Given the description of an element on the screen output the (x, y) to click on. 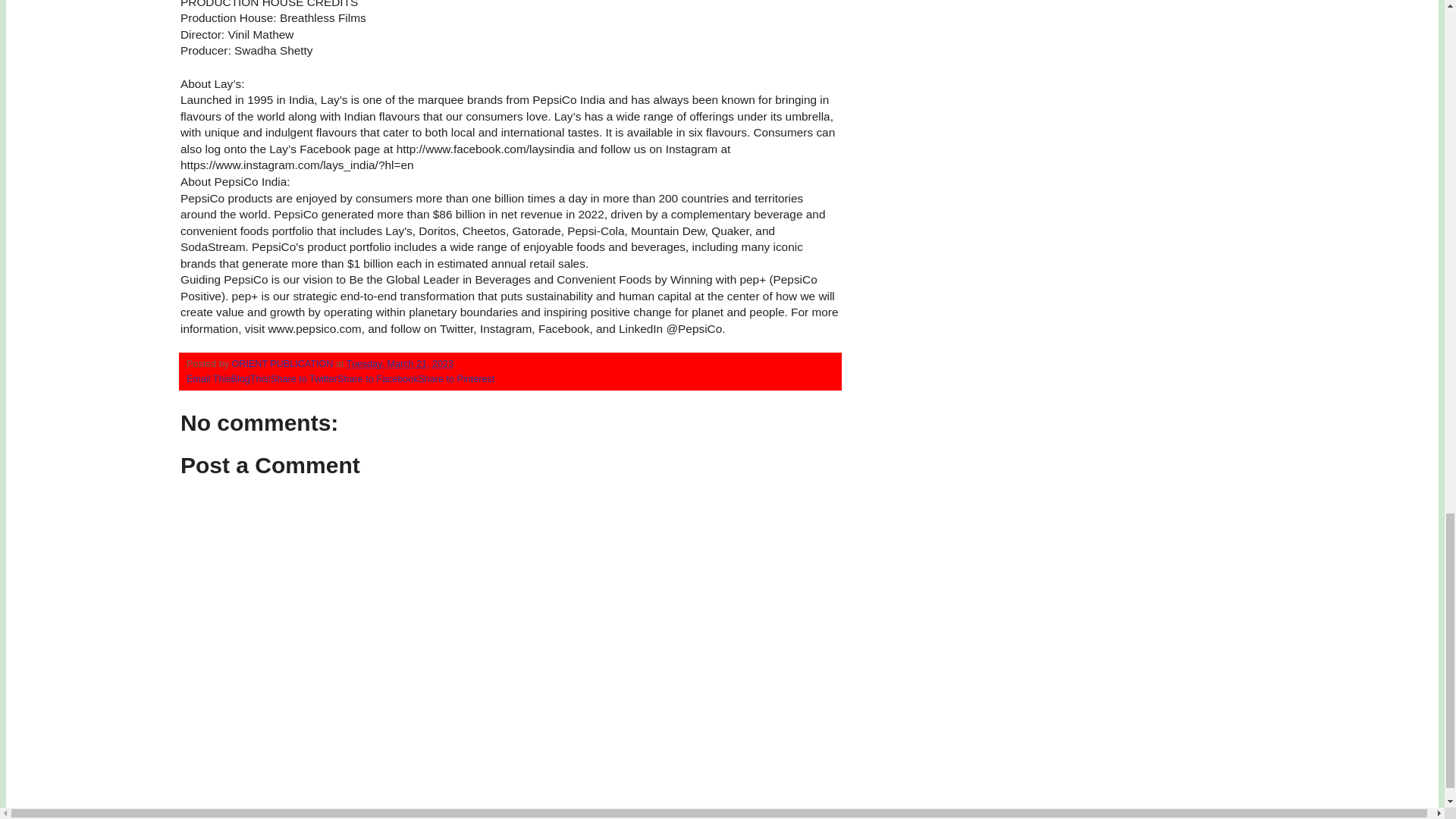
Email This (208, 378)
Share to Pinterest (456, 378)
ORIENT PUBLICATION (283, 363)
Email This (208, 378)
Share to Facebook (377, 378)
Share to Twitter (303, 378)
permanent link (399, 363)
Share to Pinterest (456, 378)
BlogThis! (250, 378)
Tuesday, March 21, 2023 (399, 363)
author profile (283, 363)
Share to Twitter (303, 378)
Share to Facebook (377, 378)
BlogThis! (250, 378)
